Given the description of an element on the screen output the (x, y) to click on. 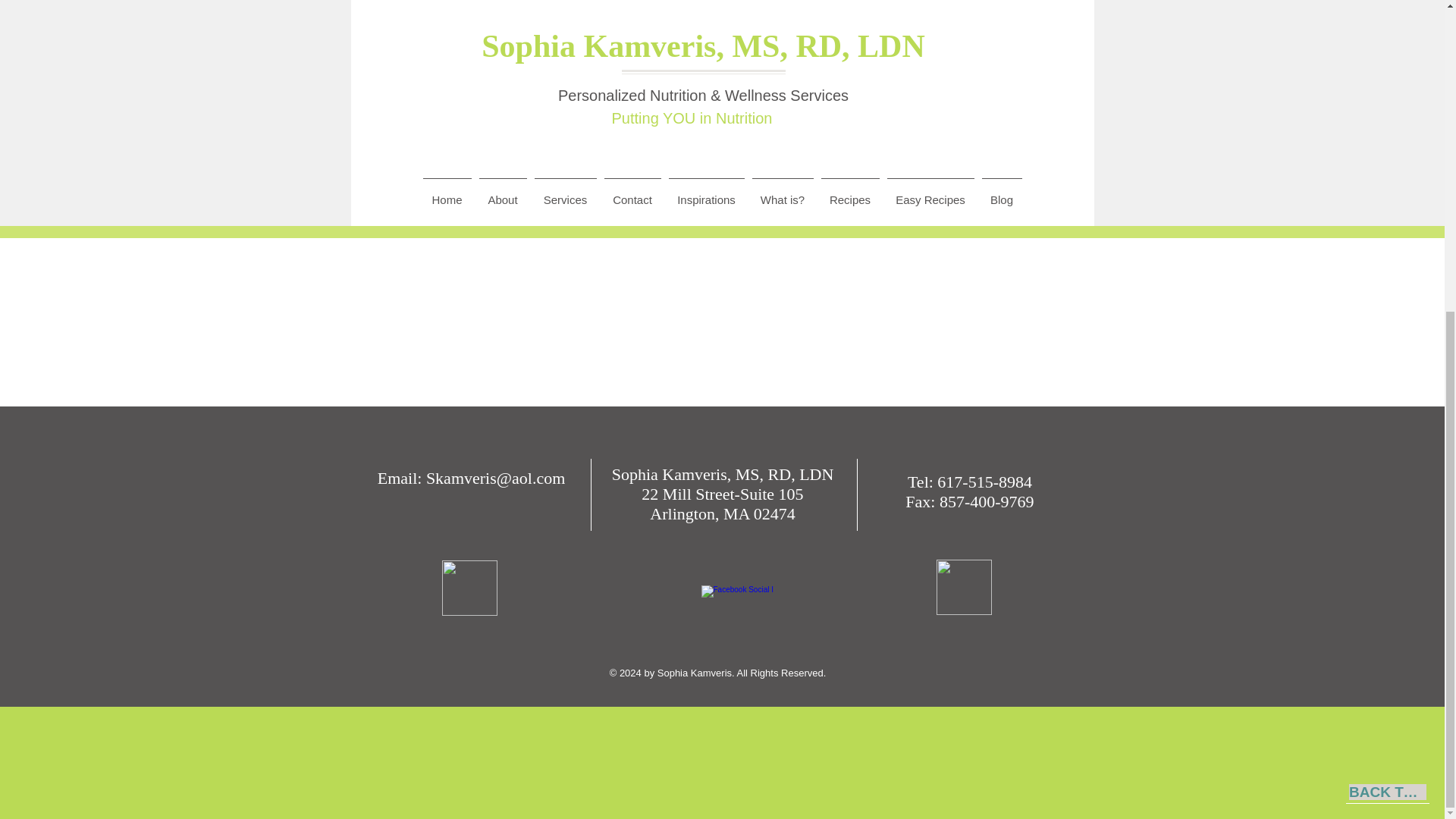
Tel: 617-515-8984 (969, 481)
BACK TO TOP (1387, 296)
Sophia Kamveris, MS, RD, LDN (722, 474)
